Given the description of an element on the screen output the (x, y) to click on. 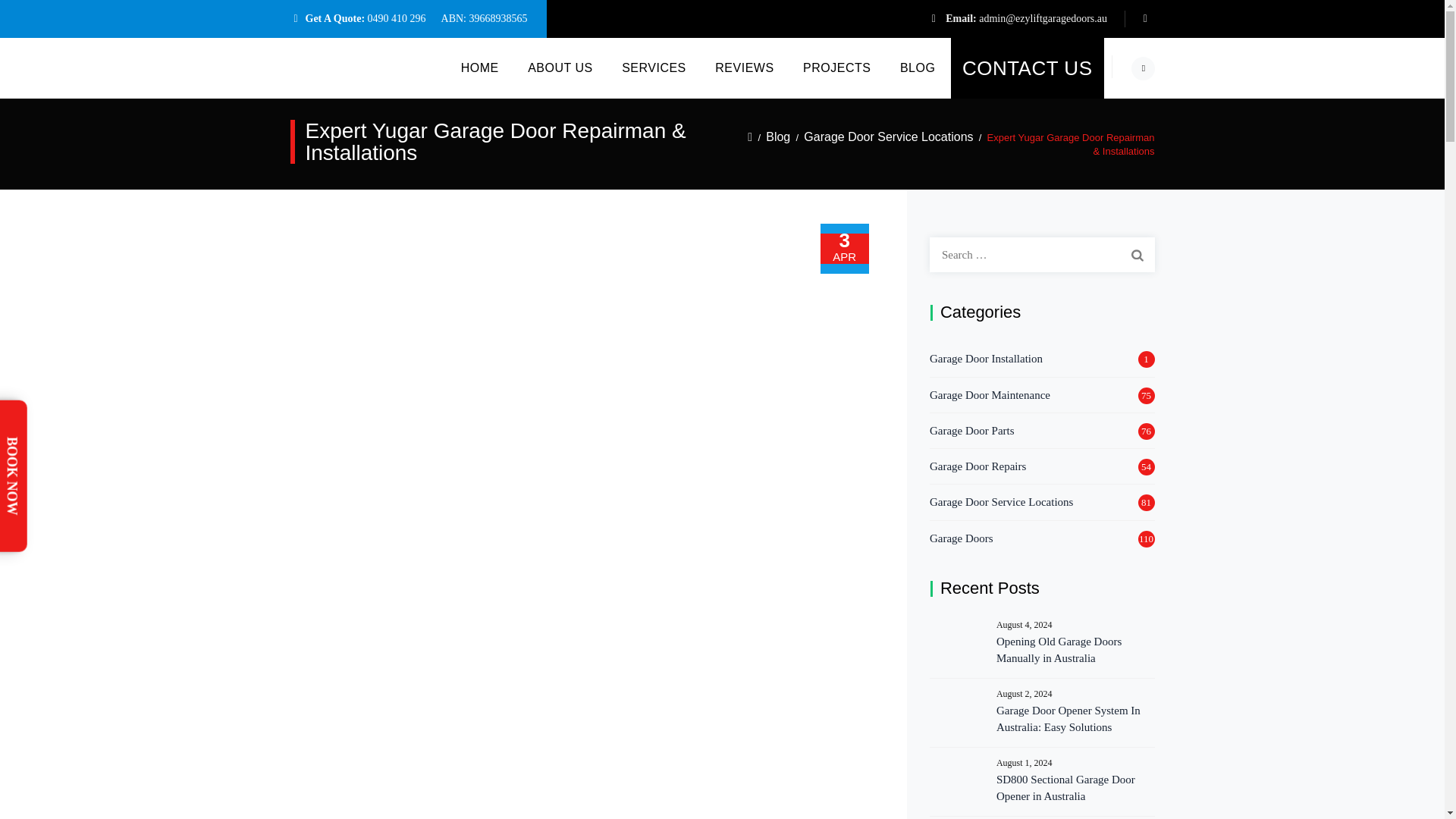
SERVICES (654, 67)
About Us (560, 67)
Contact Us For A Quote (1026, 67)
PROJECTS (836, 67)
BLOG (917, 67)
Garage Door Service Locations (887, 136)
Go to Blog. (777, 136)
REVIEWS (744, 67)
Search (1136, 254)
HOME (479, 67)
